Given the description of an element on the screen output the (x, y) to click on. 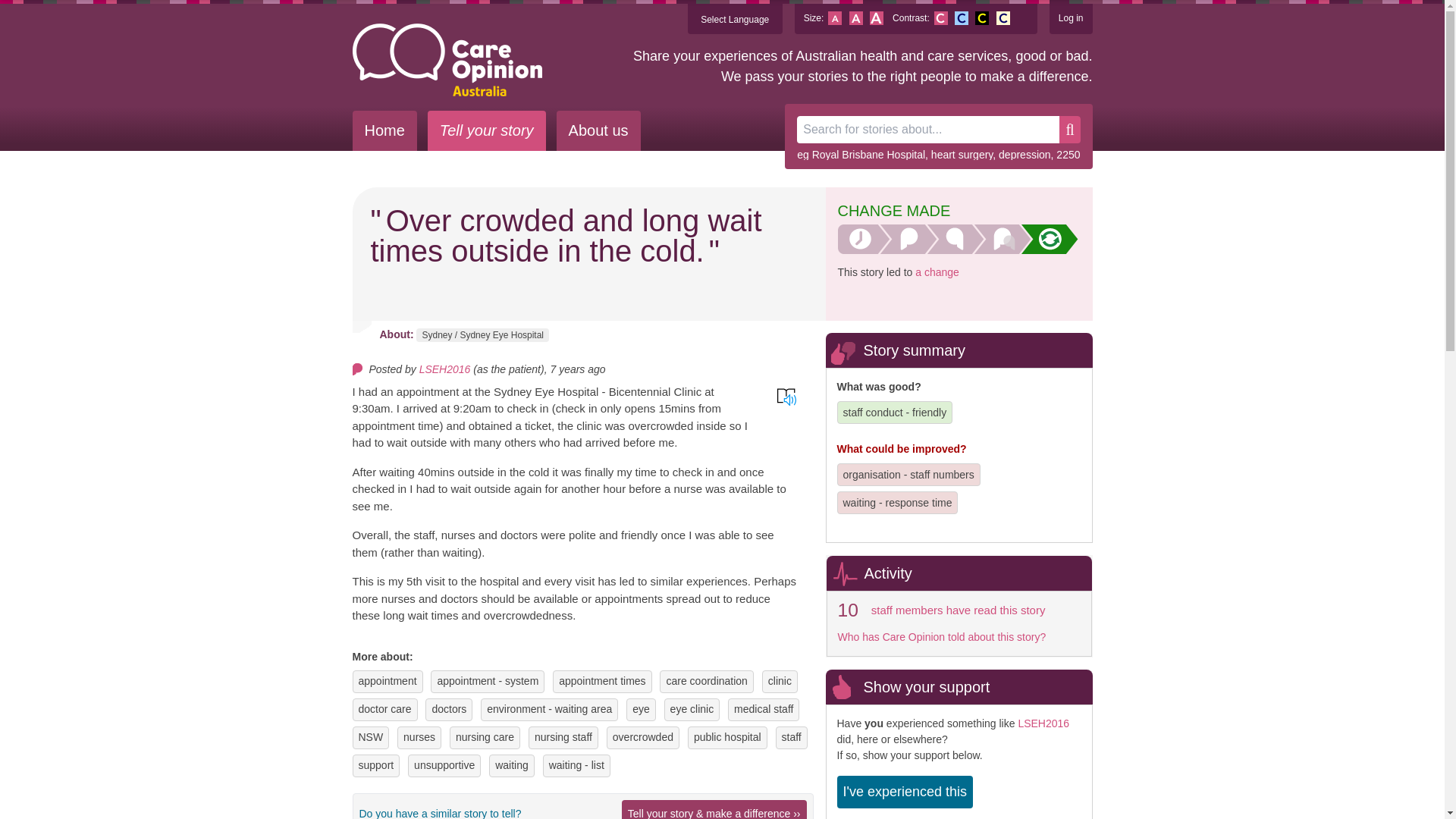
overcrowded (642, 737)
Home (384, 130)
highviz (981, 18)
eye clinic (691, 709)
doctor care (384, 709)
Reset (855, 18)
Log in (1070, 18)
blue (961, 18)
public hospital (727, 737)
Smaller (834, 18)
doctors (447, 709)
About us (598, 130)
NSW (370, 737)
clinic (780, 681)
Care Opinion home page (446, 59)
